Given the description of an element on the screen output the (x, y) to click on. 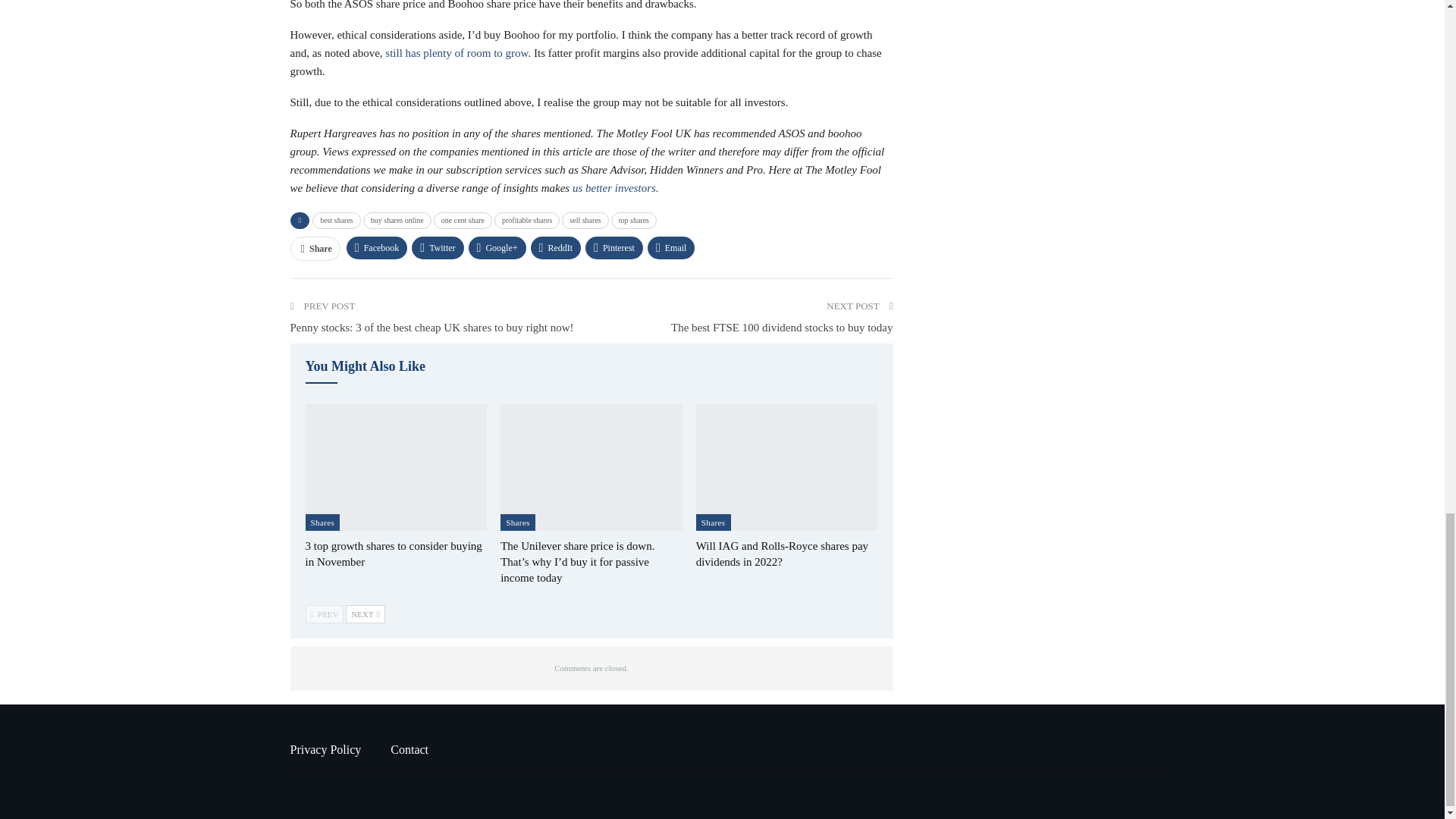
still has plenty of room to grow (456, 52)
Next (365, 614)
Pinterest (614, 247)
buy shares online (396, 220)
You Might Also Like (364, 366)
Shares (517, 522)
The best FTSE 100 dividend stocks to buy today (781, 327)
3 top growth shares to consider buying in November (392, 553)
Twitter (437, 247)
one cent share (462, 220)
